Given the description of an element on the screen output the (x, y) to click on. 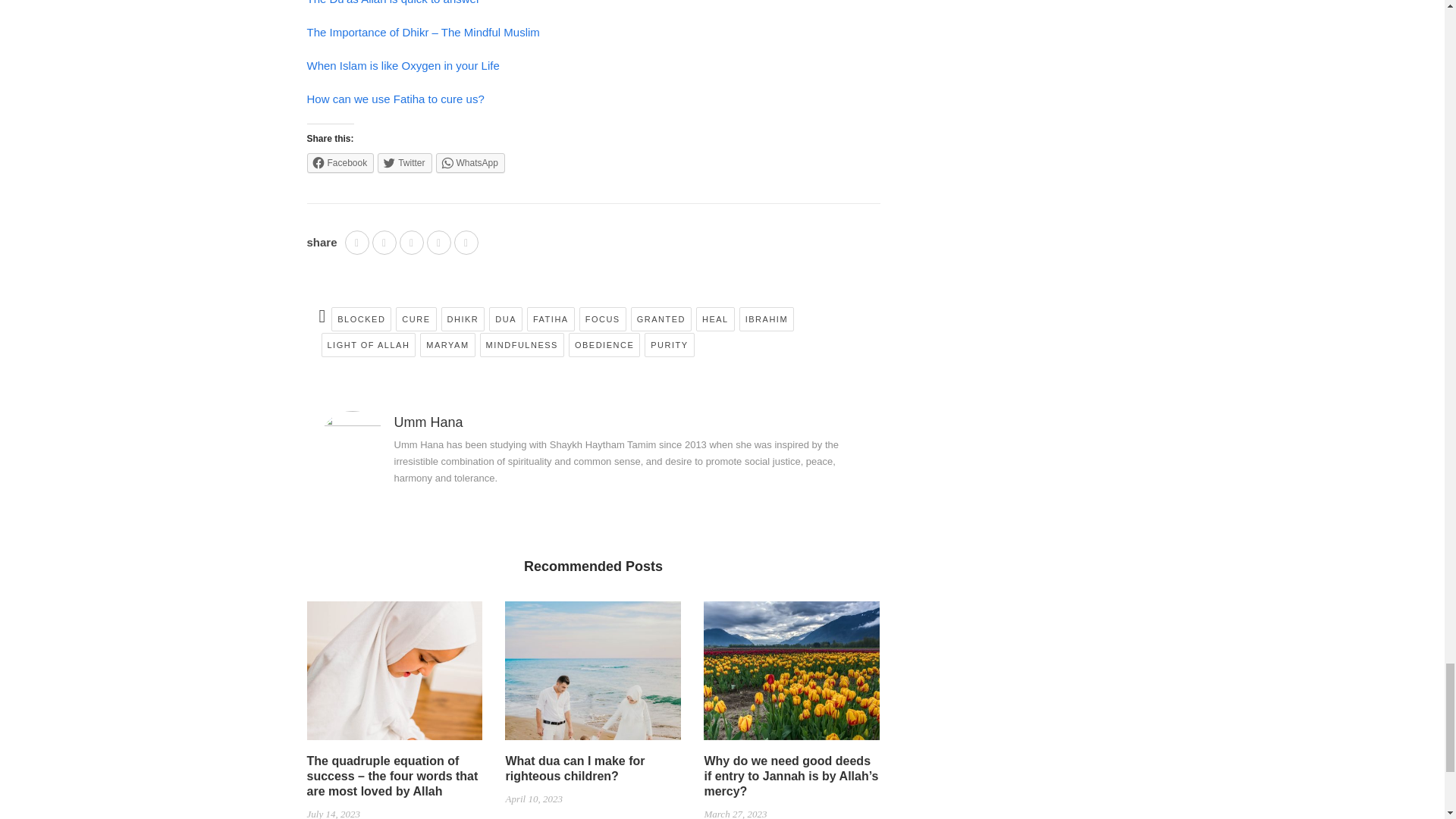
Click to share on Twitter (403, 162)
Posts by Umm Hana (428, 421)
What dua can I make for righteous children? (593, 676)
Click to share on WhatsApp (470, 162)
Click to share on Facebook (339, 162)
